Given the description of an element on the screen output the (x, y) to click on. 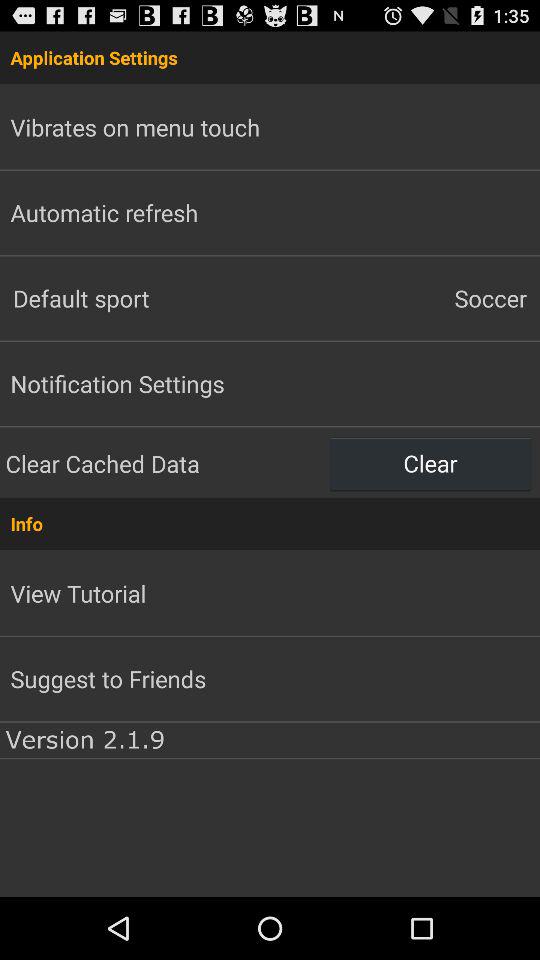
press item above the notification settings app (135, 298)
